Given the description of an element on the screen output the (x, y) to click on. 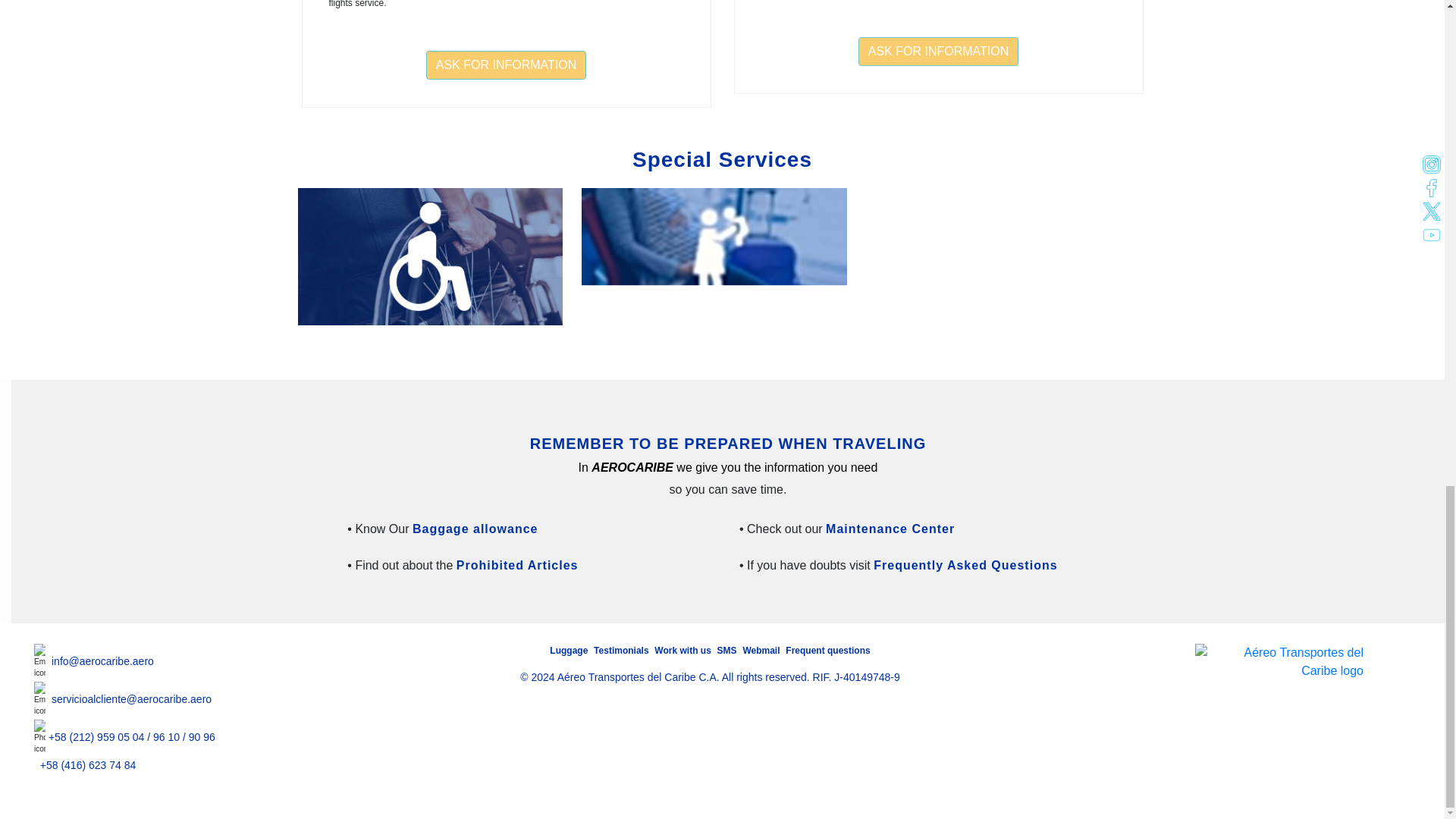
Luggage (569, 651)
Prohibited Articles (517, 564)
Testimonials (622, 651)
Webmail (761, 651)
Frequent questions (827, 651)
Work with us (683, 651)
SMS (728, 651)
ASK FOR INFORMATION (938, 51)
ASK FOR INFORMATION (506, 64)
ASK FOR INFORMATION (938, 50)
